Given the description of an element on the screen output the (x, y) to click on. 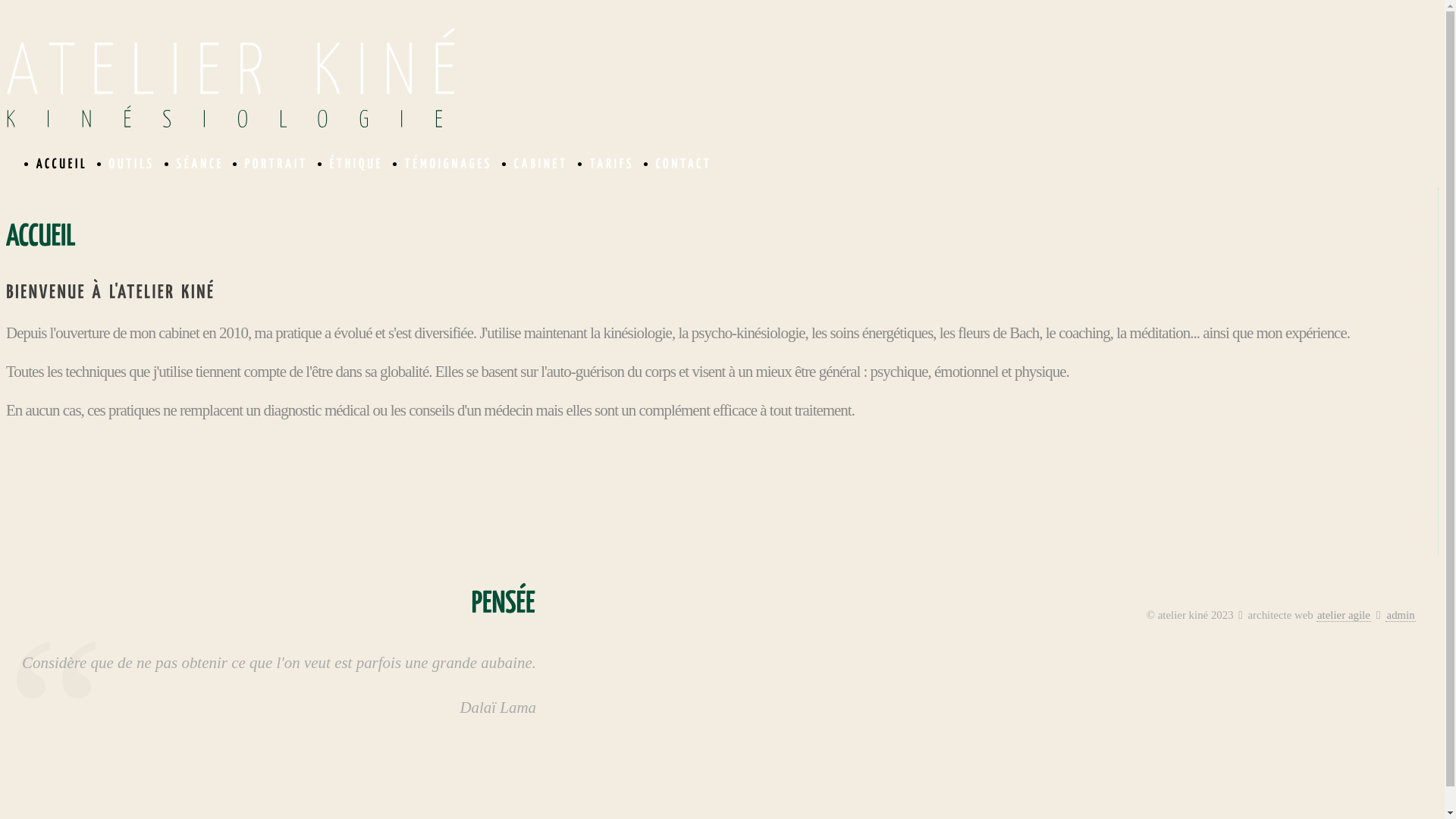
atelier agile Element type: text (1343, 614)
admin Element type: text (1400, 614)
